Given the description of an element on the screen output the (x, y) to click on. 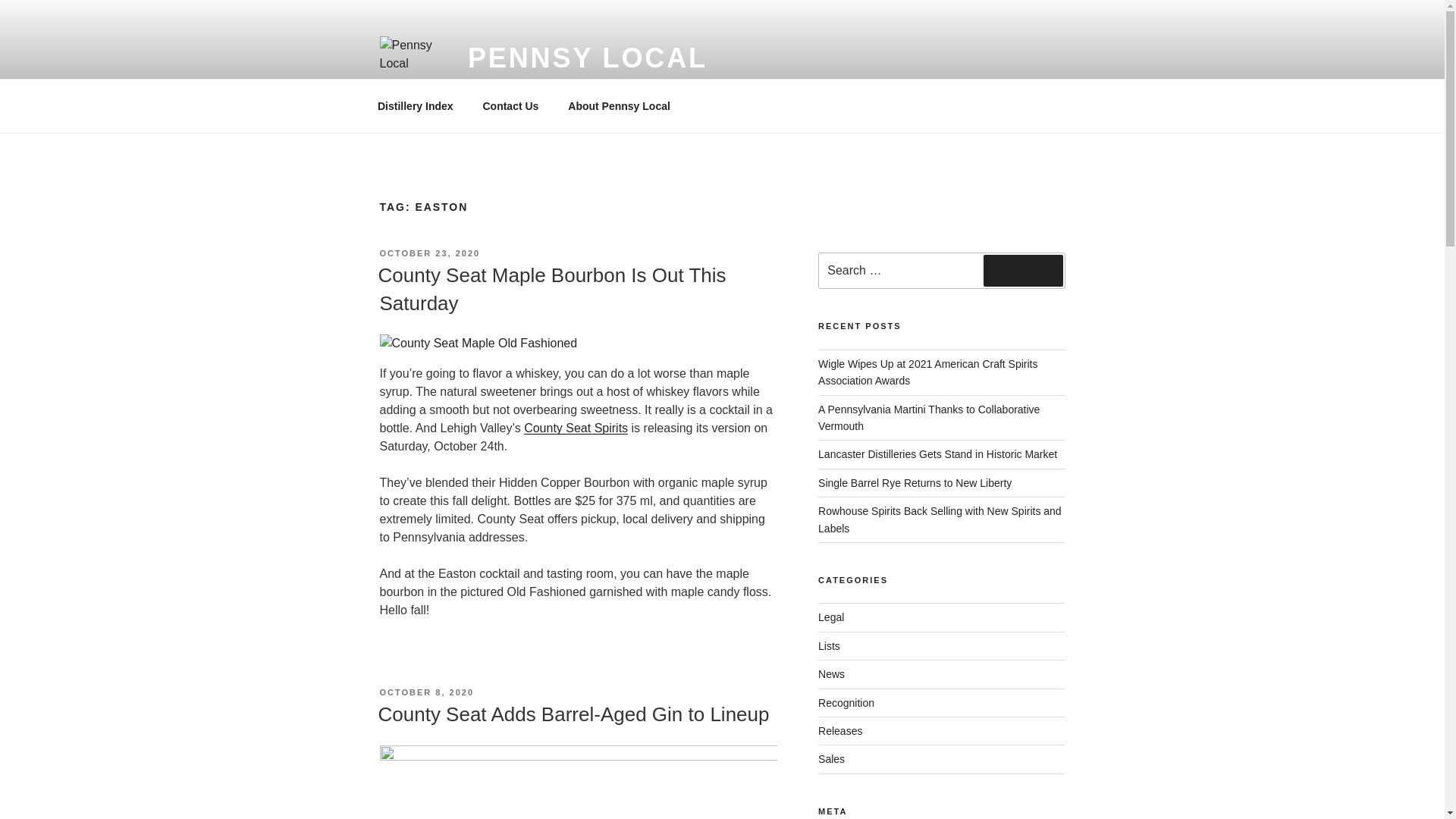
County Seat Adds Barrel-Aged Gin to Lineup (572, 713)
Lists (829, 645)
OCTOBER 8, 2020 (426, 691)
Contact Us (509, 106)
Distillery Index (414, 106)
Releases (839, 730)
News (831, 674)
Search (1023, 270)
County Seat Spirits (575, 427)
